Given the description of an element on the screen output the (x, y) to click on. 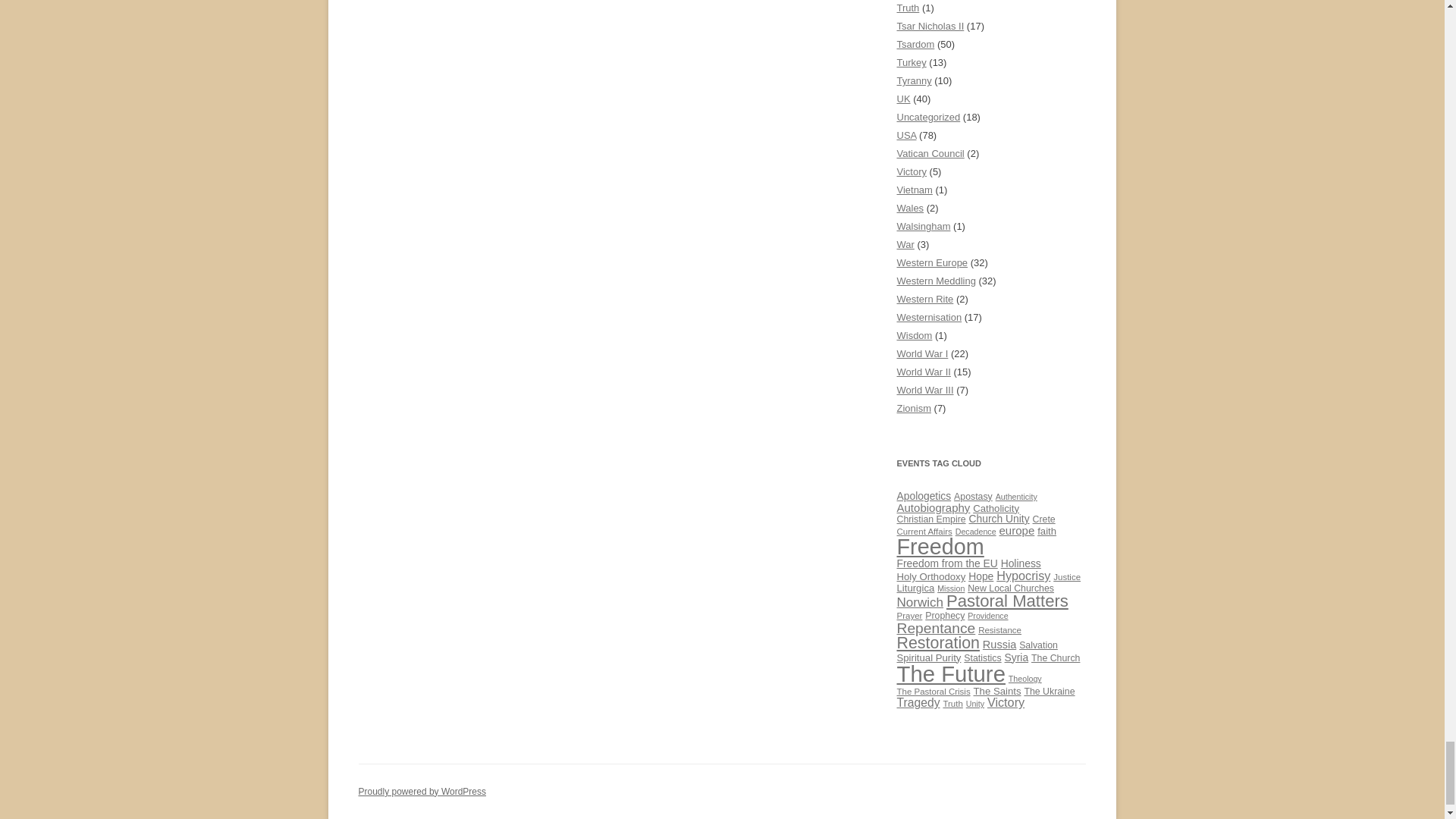
Semantic Personal Publishing Platform (422, 791)
